Given the description of an element on the screen output the (x, y) to click on. 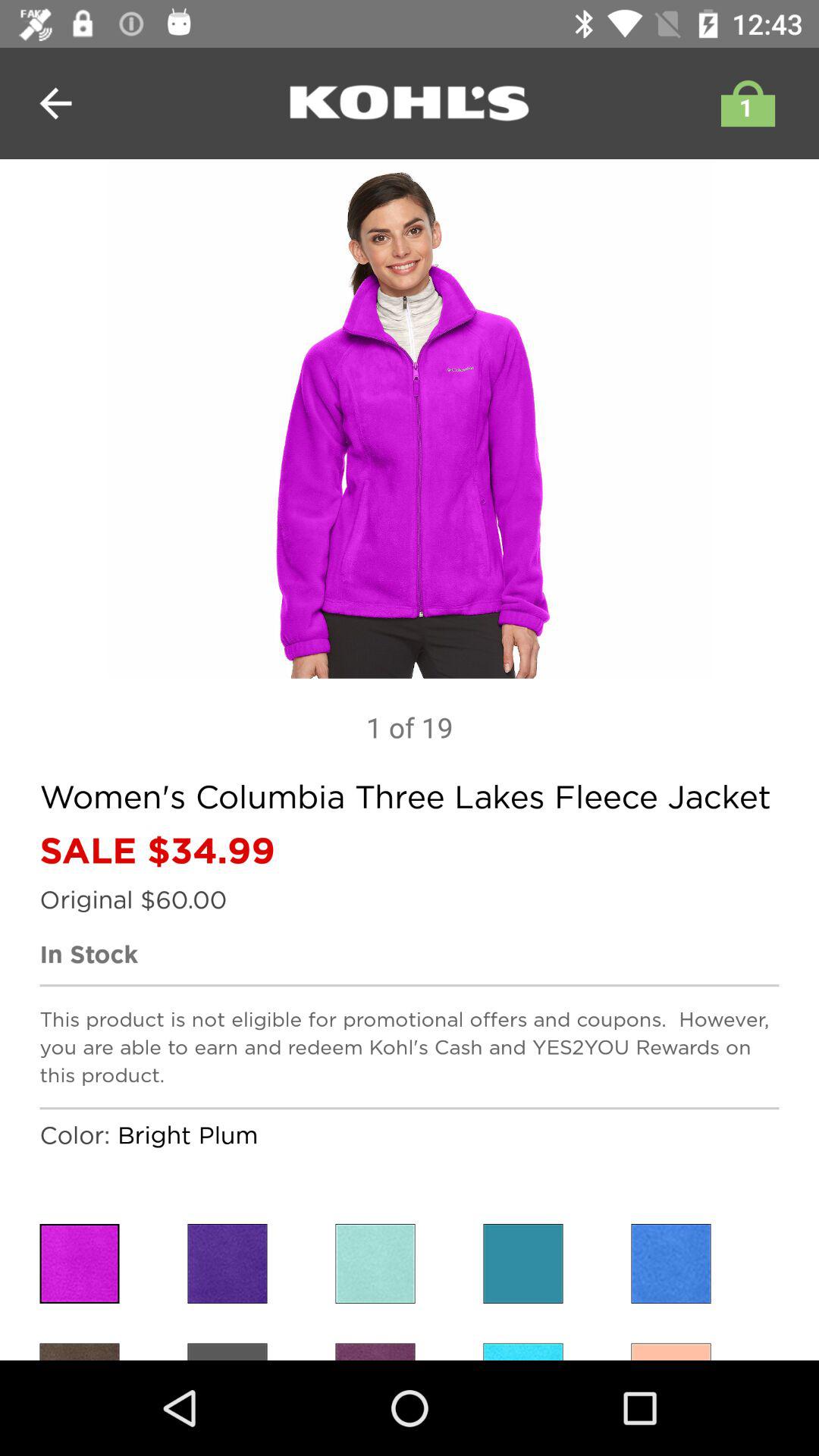
select color (375, 1263)
